Given the description of an element on the screen output the (x, y) to click on. 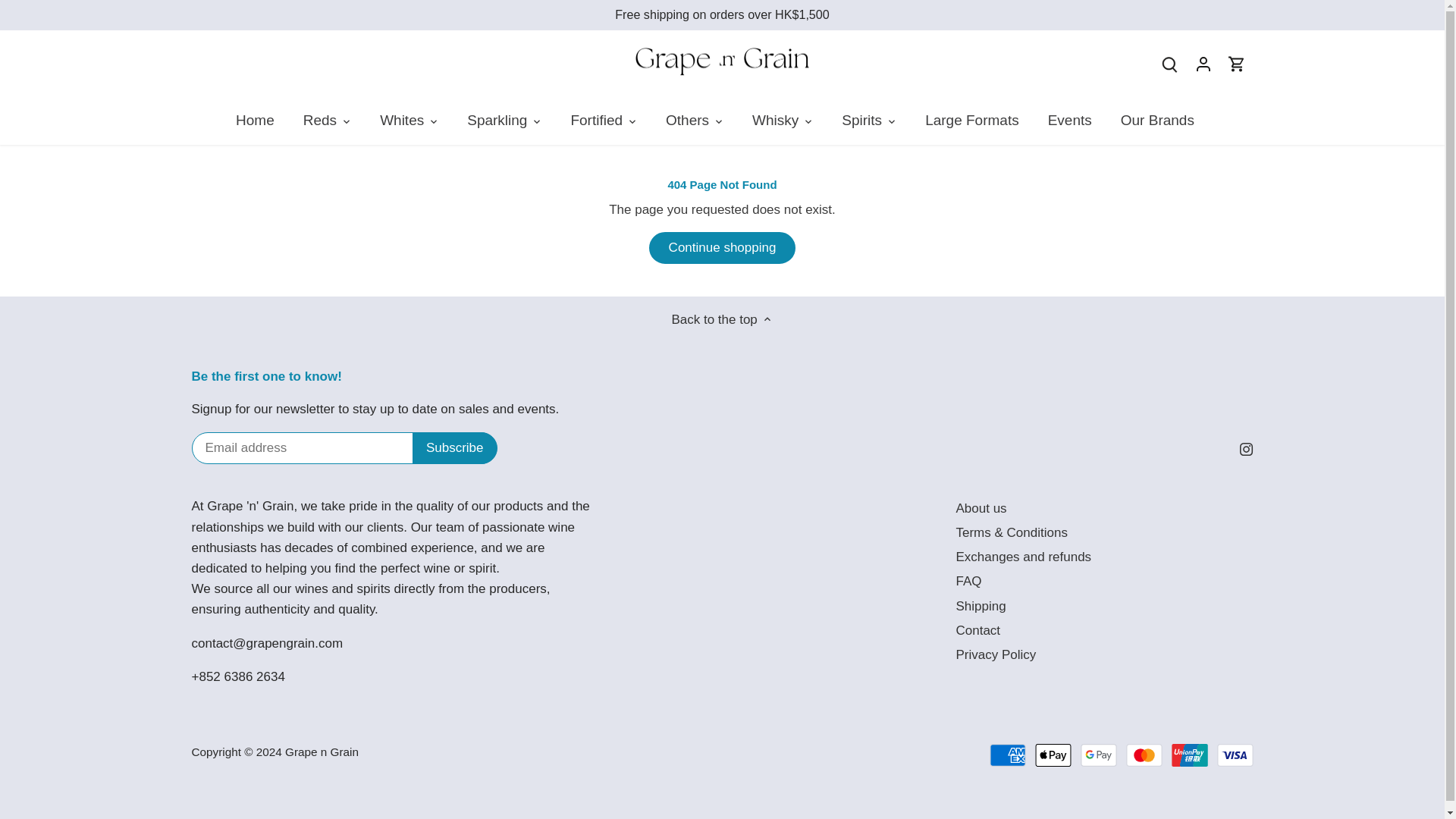
Union Pay (1190, 754)
Google Pay (1098, 754)
Subscribe (454, 448)
Apple Pay (1053, 754)
Home (261, 120)
Instagram (1246, 449)
American Express (1008, 754)
Reds (319, 120)
Visa (1233, 754)
Mastercard (1143, 754)
